Given the description of an element on the screen output the (x, y) to click on. 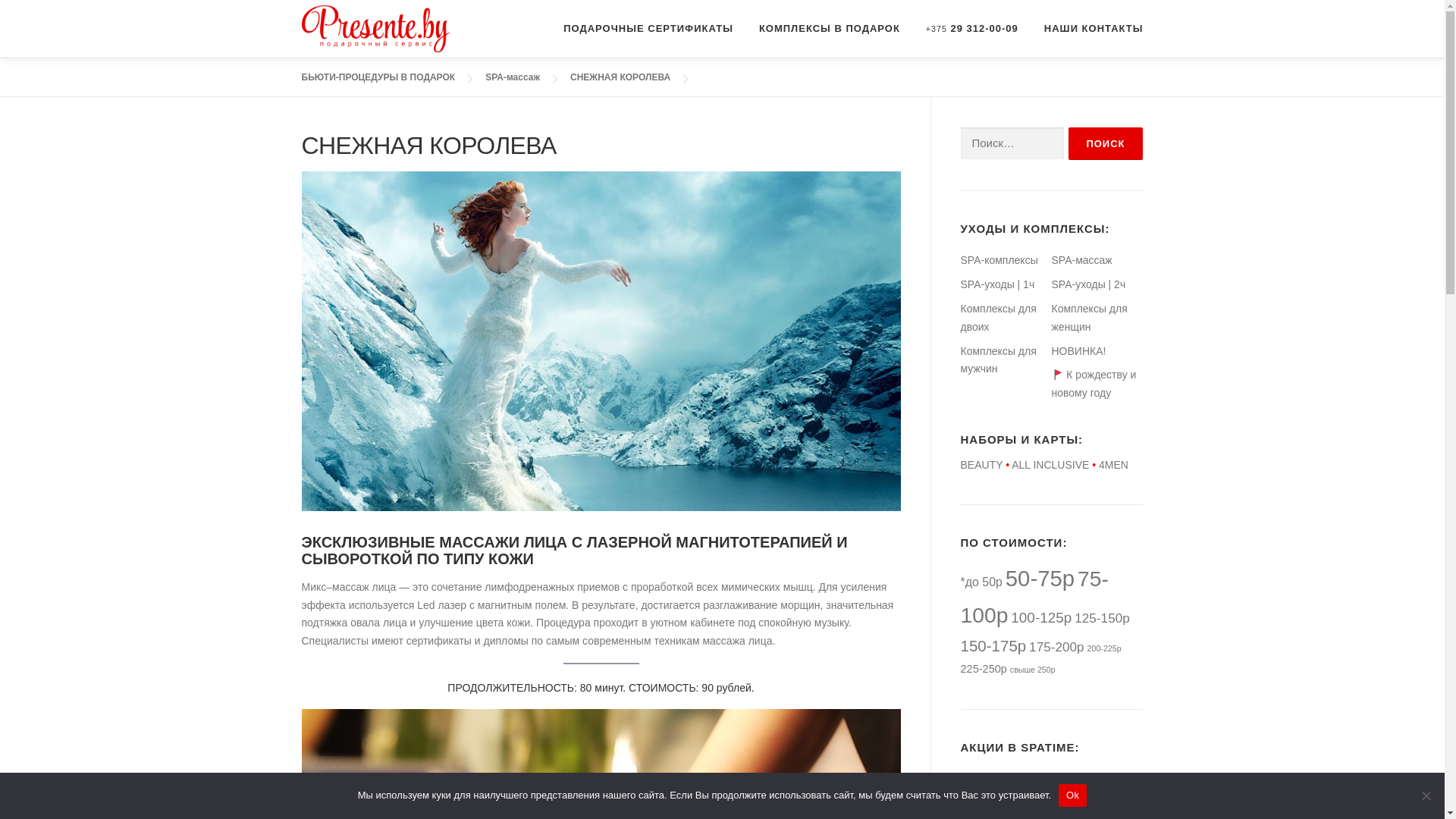
Ok Element type: text (1072, 795)
BEAUTY Element type: text (981, 464)
ALL INCLUSIVE Element type: text (1049, 464)
+375 29 312-00-09 Element type: text (972, 28)
4MEN Element type: text (1113, 464)
